Given the description of an element on the screen output the (x, y) to click on. 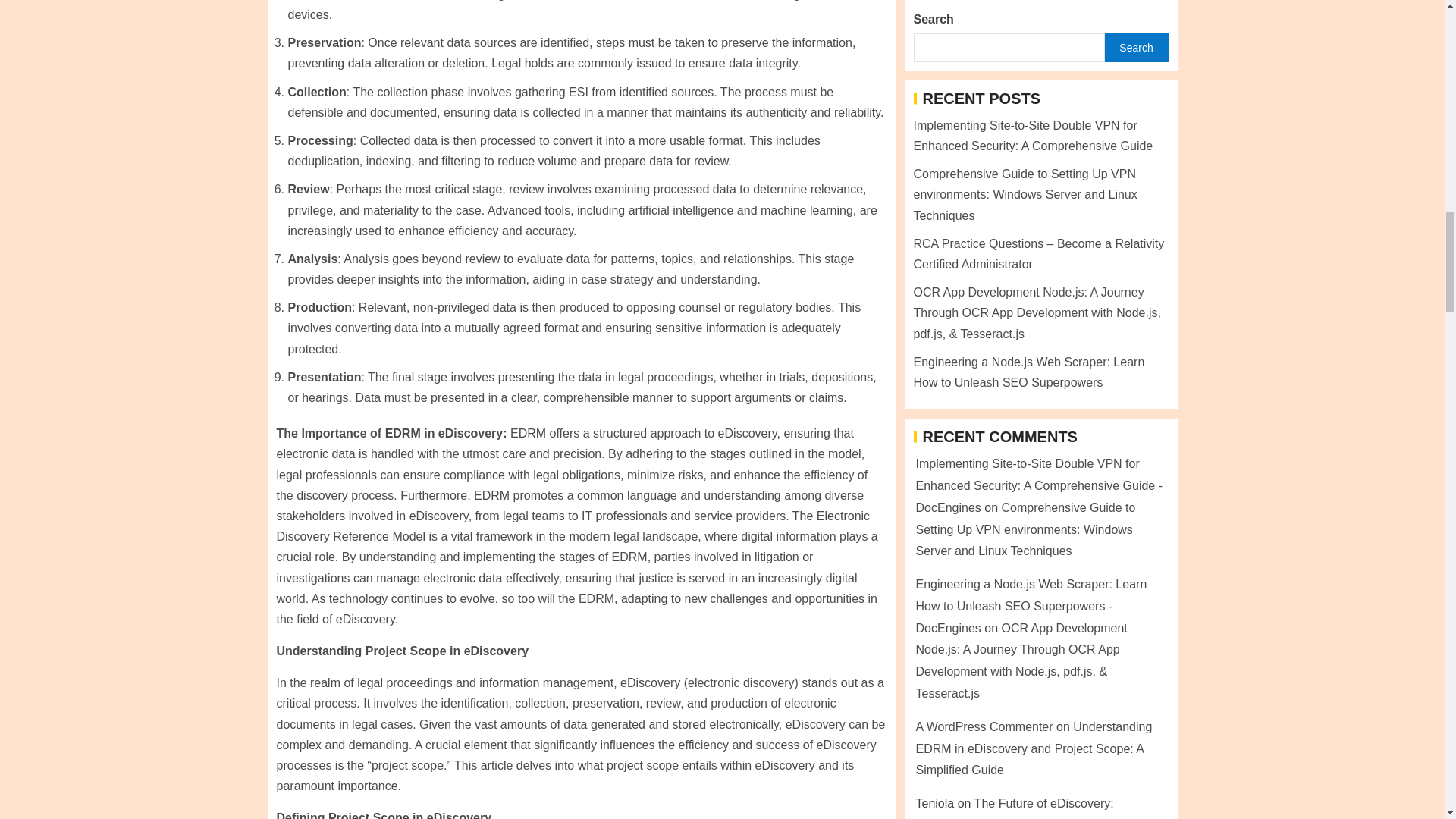
Search (1135, 381)
Search (1135, 381)
